Given the description of an element on the screen output the (x, y) to click on. 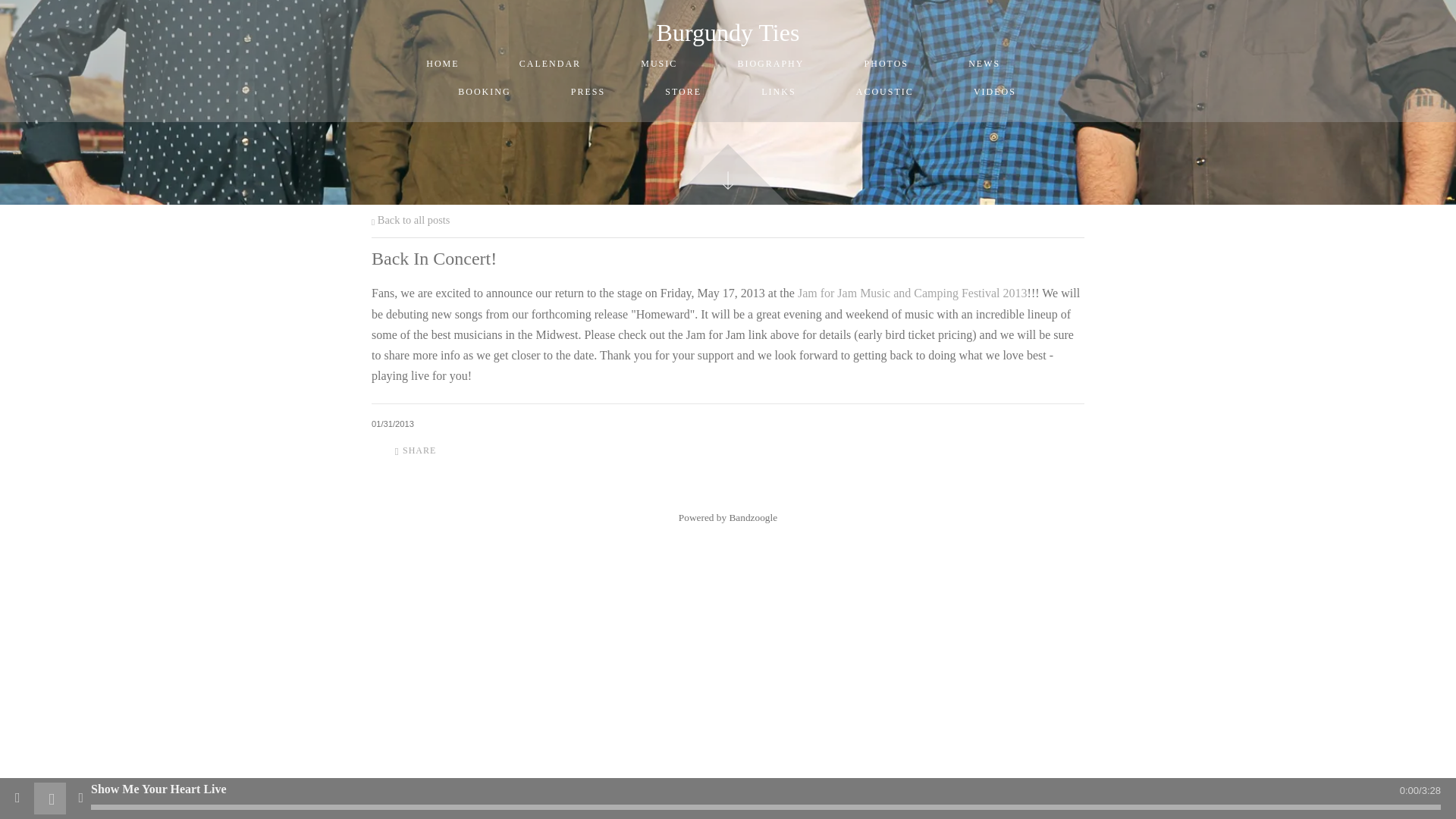
CALENDAR (549, 63)
PRESS (587, 91)
January 31, 2013 18:00 (392, 423)
Powered by Bandzoogle (727, 517)
LINKS (778, 91)
ACOUSTIC (884, 91)
STORE (683, 91)
PHOTOS (885, 63)
Burgundy Ties (727, 32)
Powered by Bandzoogle (727, 517)
BIOGRAPHY (770, 63)
NEWS (983, 63)
BOOKING (484, 91)
HOME (442, 63)
VIDEOS (994, 91)
